Given the description of an element on the screen output the (x, y) to click on. 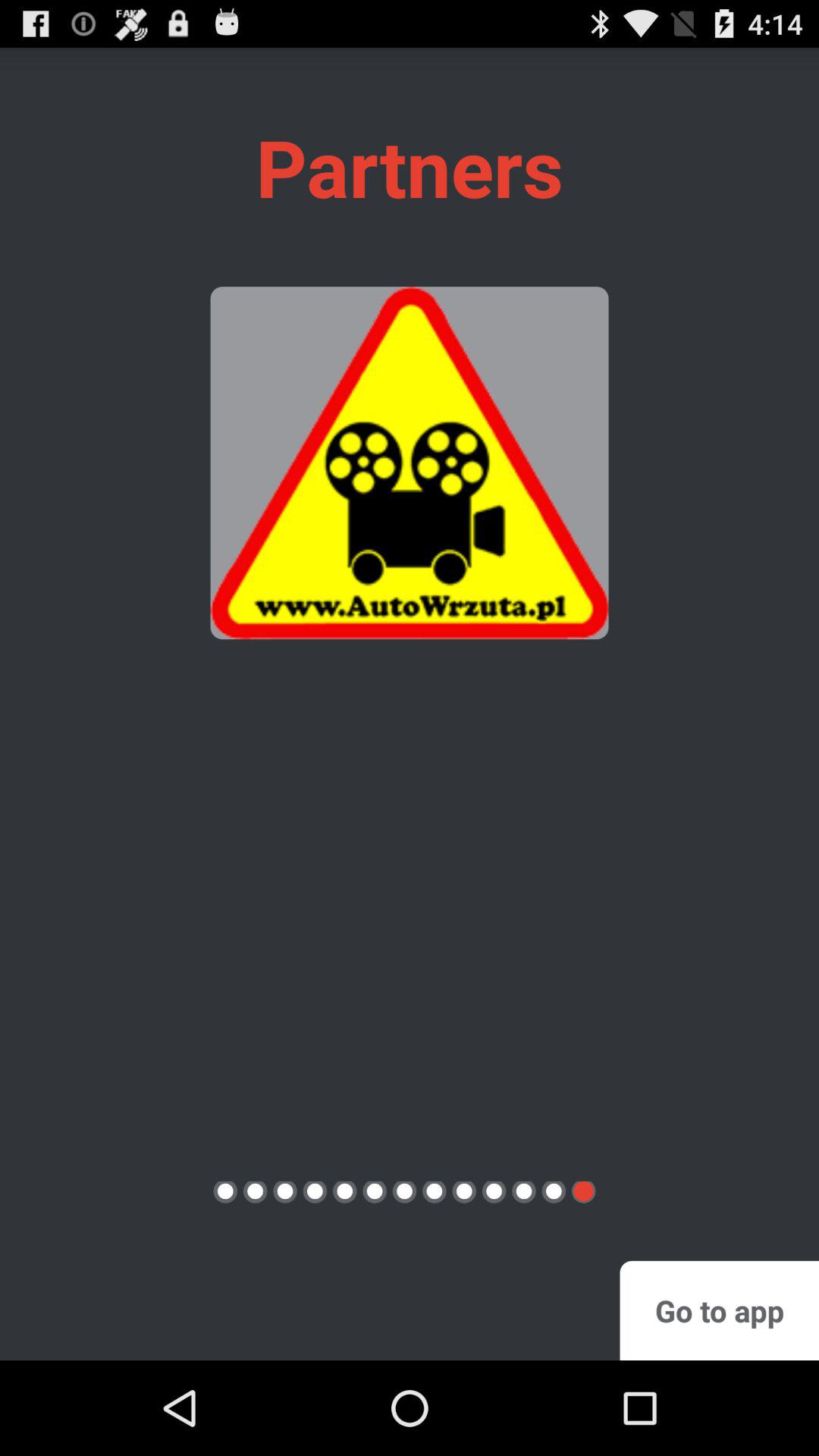
click button at the bottom right corner (719, 1310)
